Given the description of an element on the screen output the (x, y) to click on. 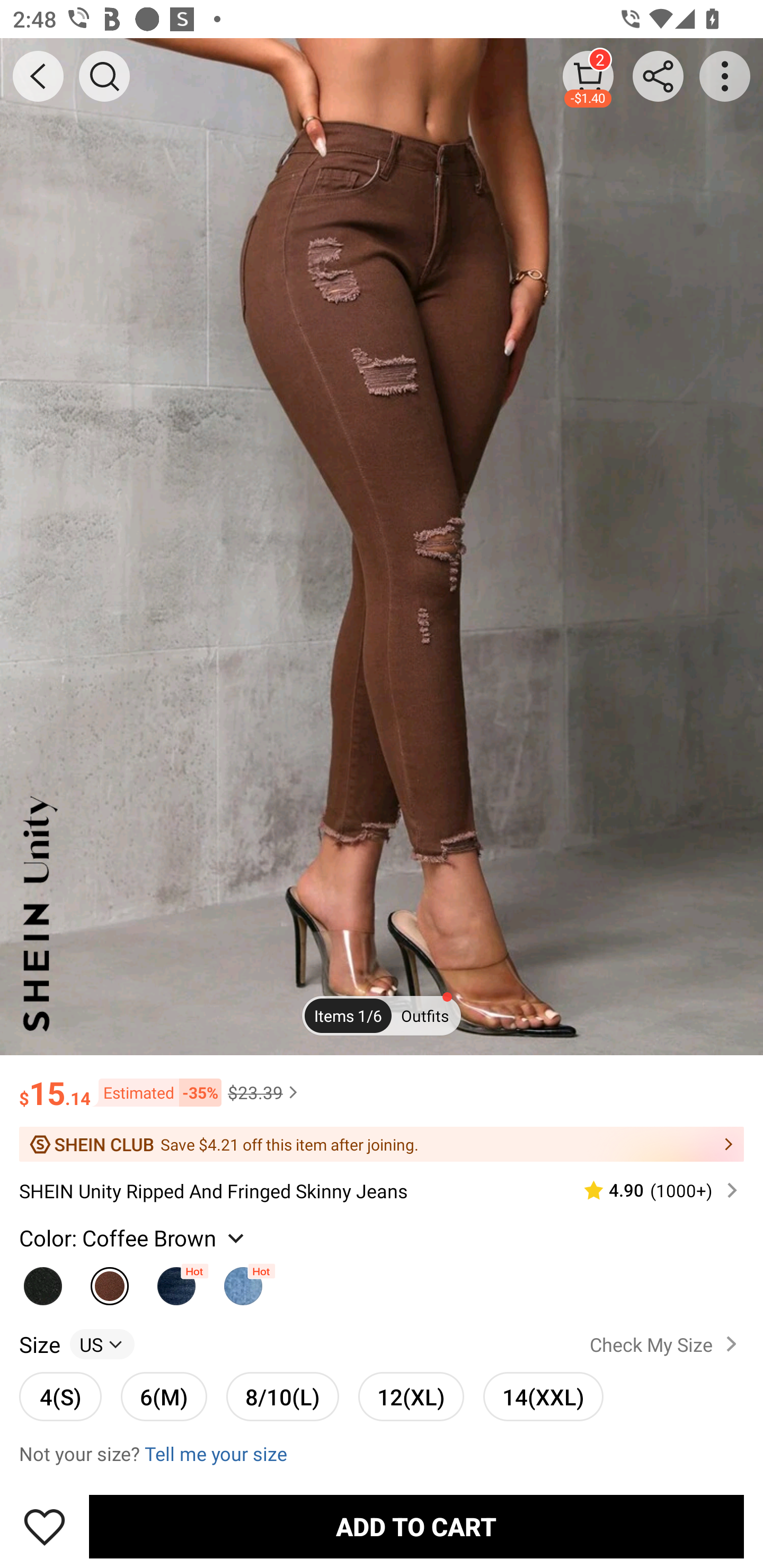
BACK (38, 75)
2 -$1.40 (588, 75)
Items 1/6 (347, 1015)
Outfits (424, 1015)
Estimated -35% (155, 1092)
$23.39 (265, 1091)
Save $4.21 off this item after joining. (381, 1144)
4.90 (1000‎+) (653, 1189)
Color: Coffee Brown (133, 1237)
Black (42, 1280)
Coffee Brown (109, 1280)
Dark Wash (176, 1280)
Light Wash (242, 1280)
Size (39, 1344)
US (102, 1344)
Check My Size (666, 1344)
4(S) 4(S)unselected option (60, 1396)
6(M) 6(M)unselected option (163, 1396)
8/10(L) 8/10(L)unselected option (282, 1396)
12(XL) 12(XL)unselected option (410, 1396)
14(XXL) 14(XXL)unselected option (542, 1396)
Not your size? Tell me your size (381, 1453)
ADD TO CART (416, 1526)
Save (44, 1526)
